Given the description of an element on the screen output the (x, y) to click on. 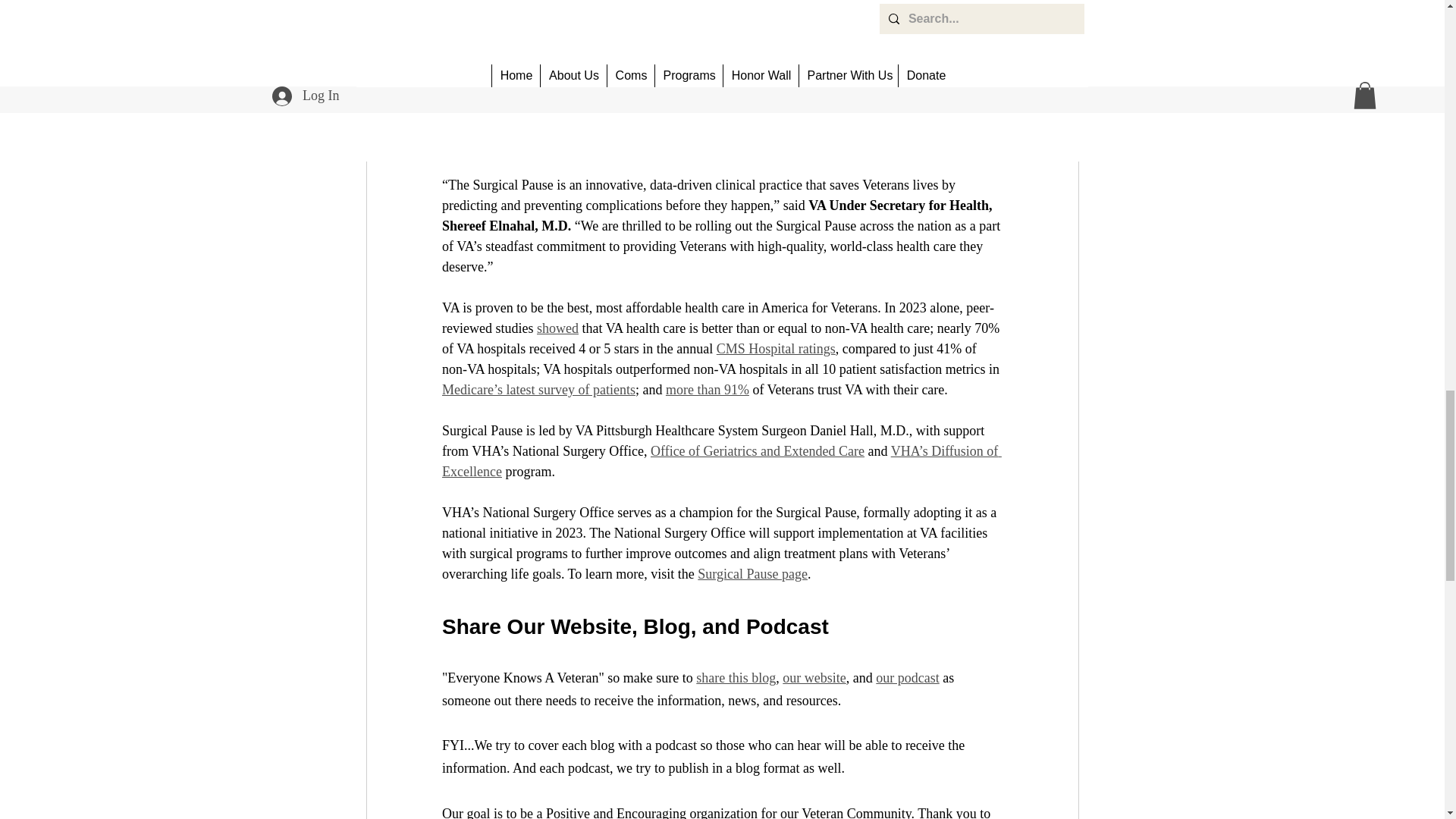
showed (556, 328)
study published in JAMA Surgery (842, 102)
CMS Hospital ratings (775, 348)
